Given the description of an element on the screen output the (x, y) to click on. 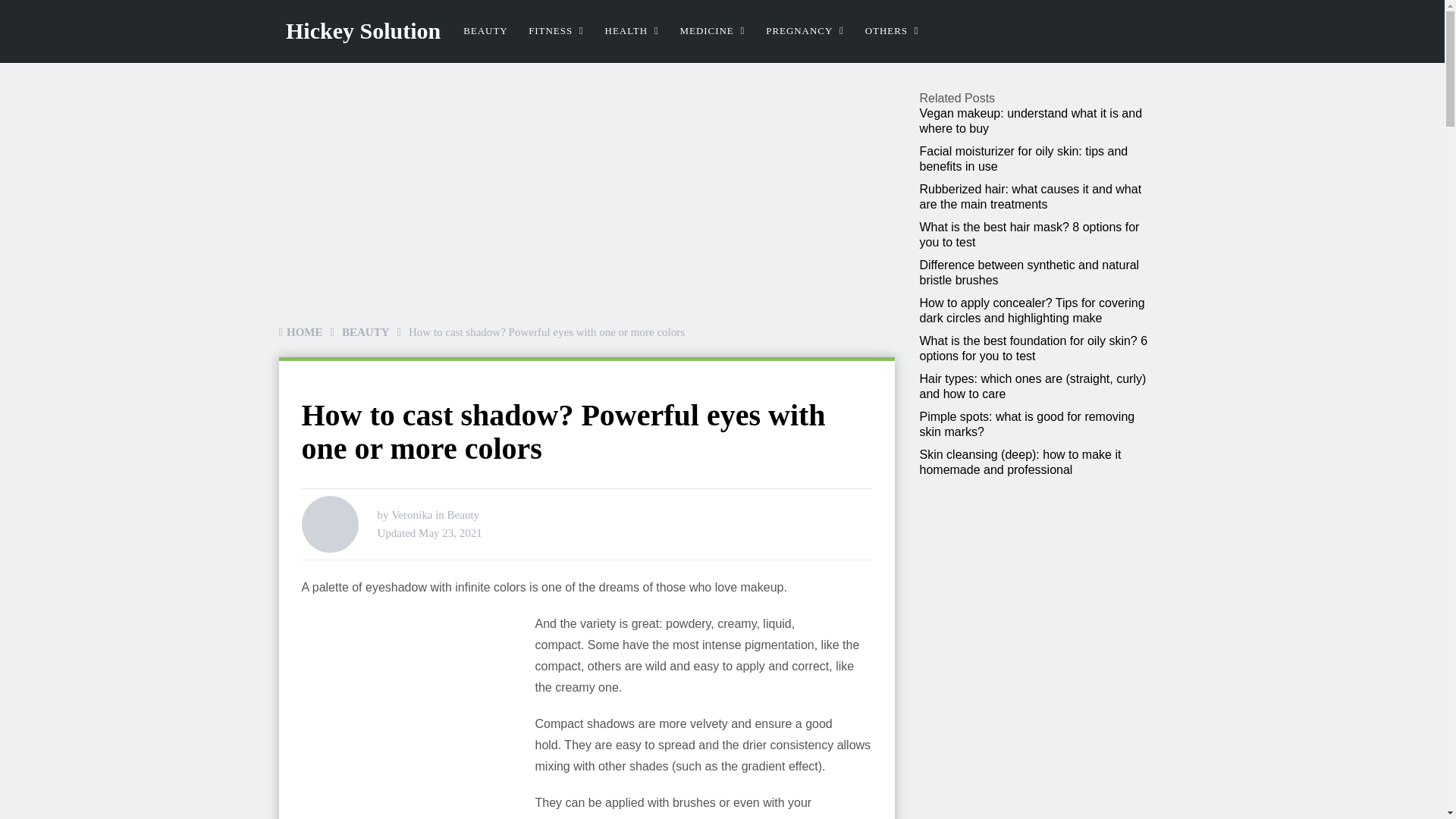
OTHERS (891, 31)
Advertisement (415, 719)
HEALTH (631, 31)
FITNESS (556, 31)
PREGNANCY (804, 31)
Posts by Veronika (411, 514)
Advertisement (406, 203)
Hickey Solution (363, 30)
View all posts in Beauty (463, 514)
BEAUTY (485, 31)
